Given the description of an element on the screen output the (x, y) to click on. 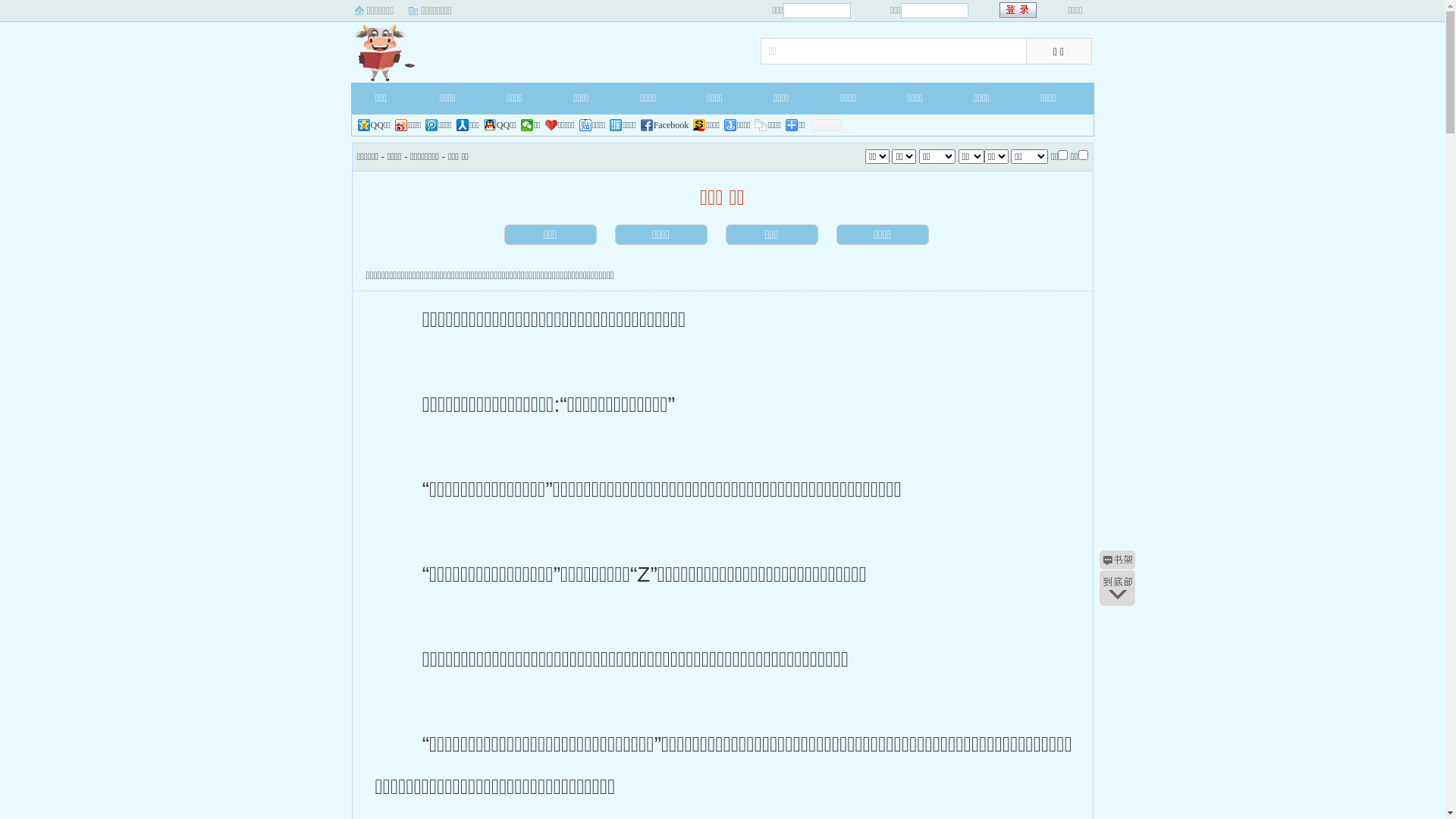
Facebook Element type: text (664, 125)
